Given the description of an element on the screen output the (x, y) to click on. 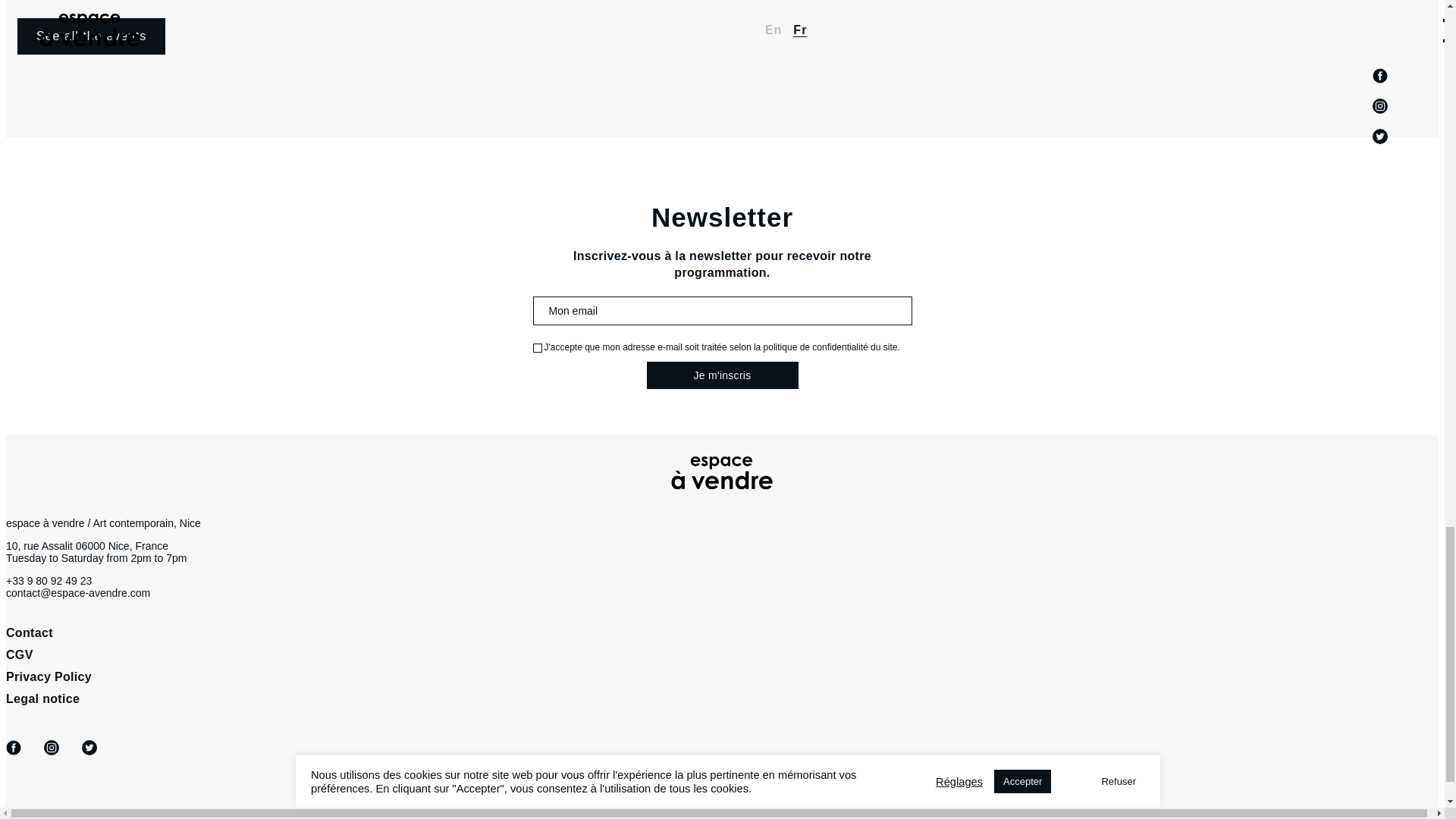
Je m'inscris (721, 375)
